Given the description of an element on the screen output the (x, y) to click on. 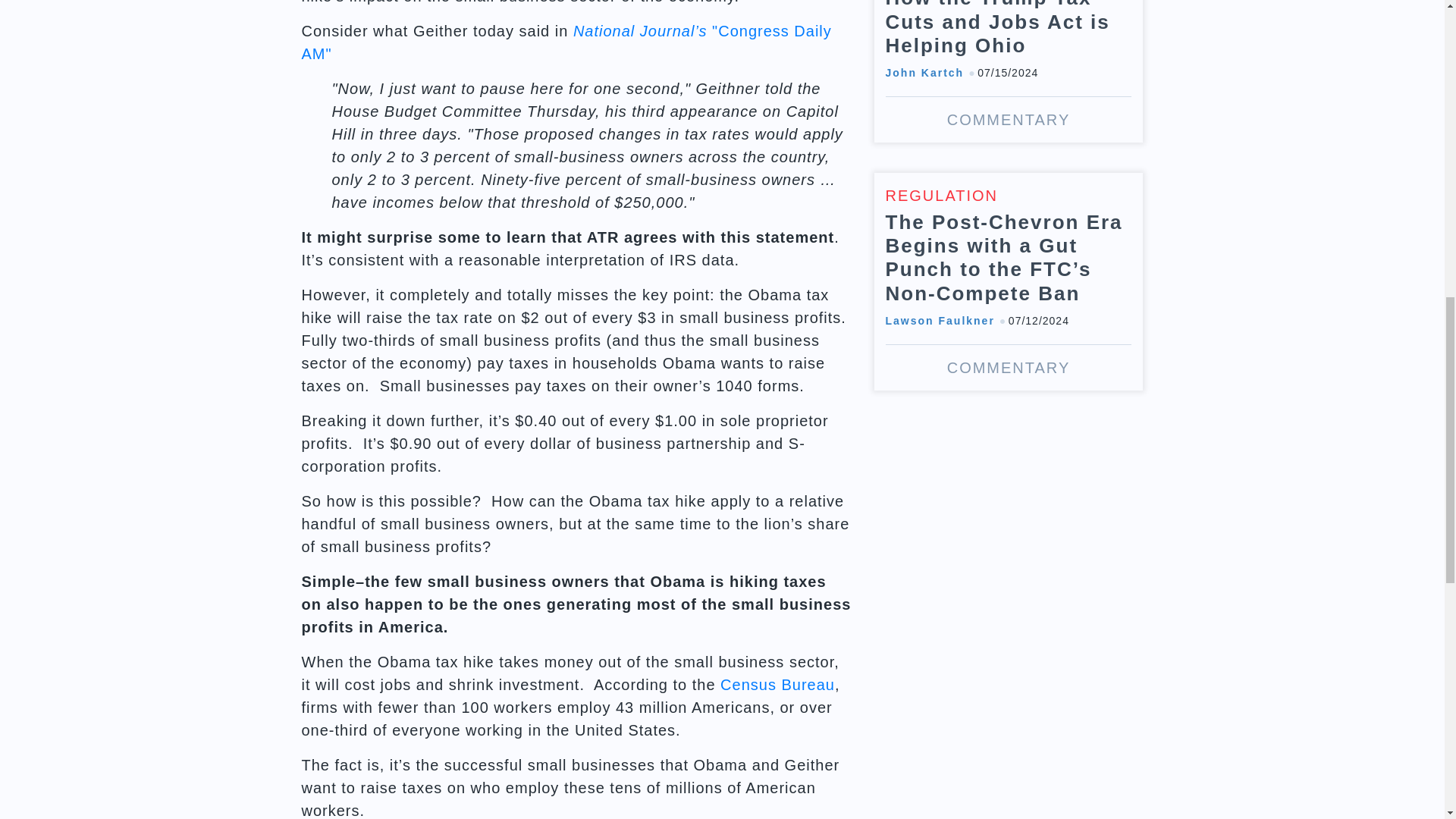
How the Trump Tax Cuts and Jobs Act is Helping Ohio (1007, 71)
Census Bureau (777, 684)
